Given the description of an element on the screen output the (x, y) to click on. 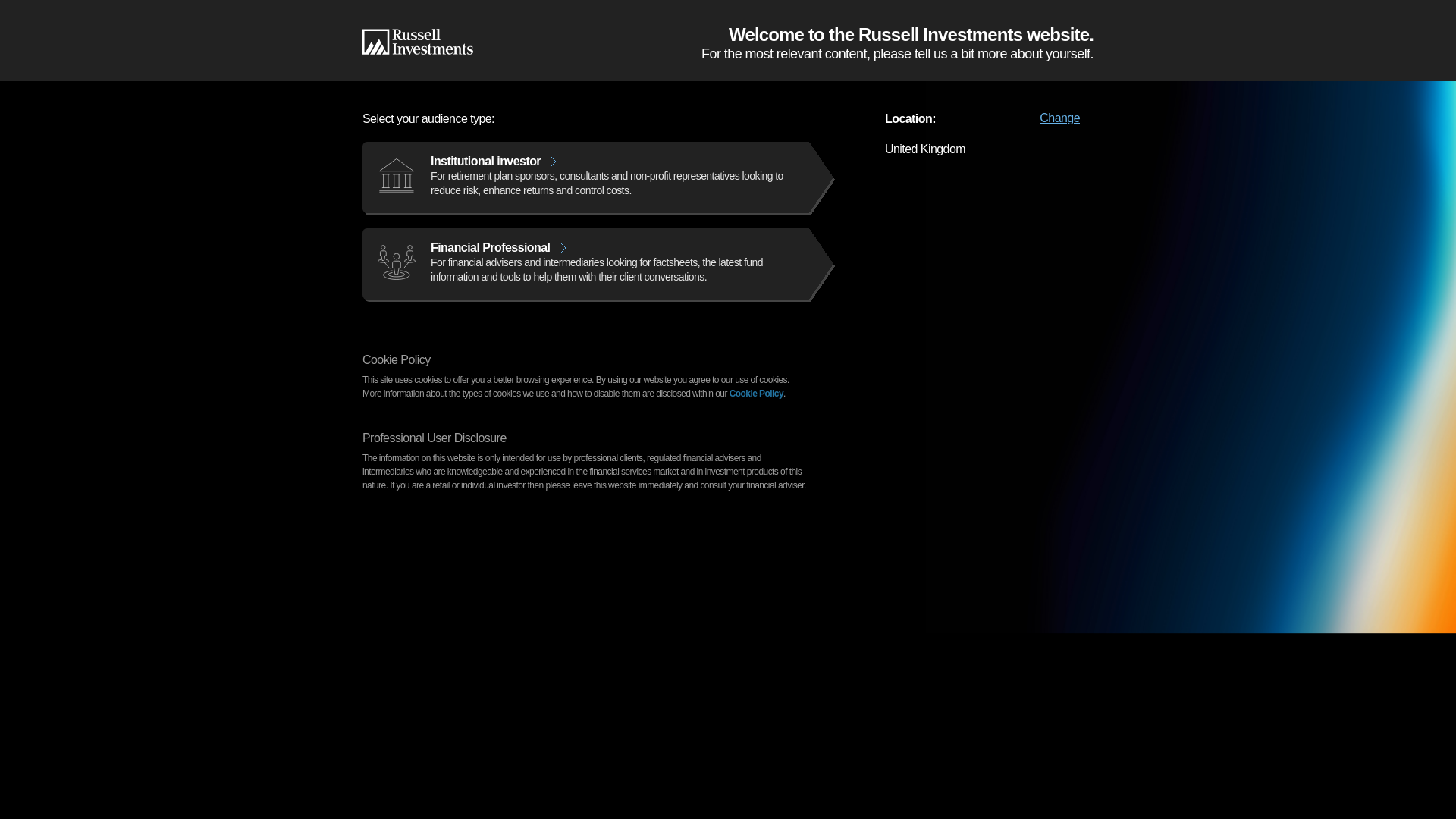
All Audiences (905, 12)
INSIGHTS (505, 44)
Cookie Policy (756, 393)
Change (1059, 117)
United Kingdom (1029, 12)
